Given the description of an element on the screen output the (x, y) to click on. 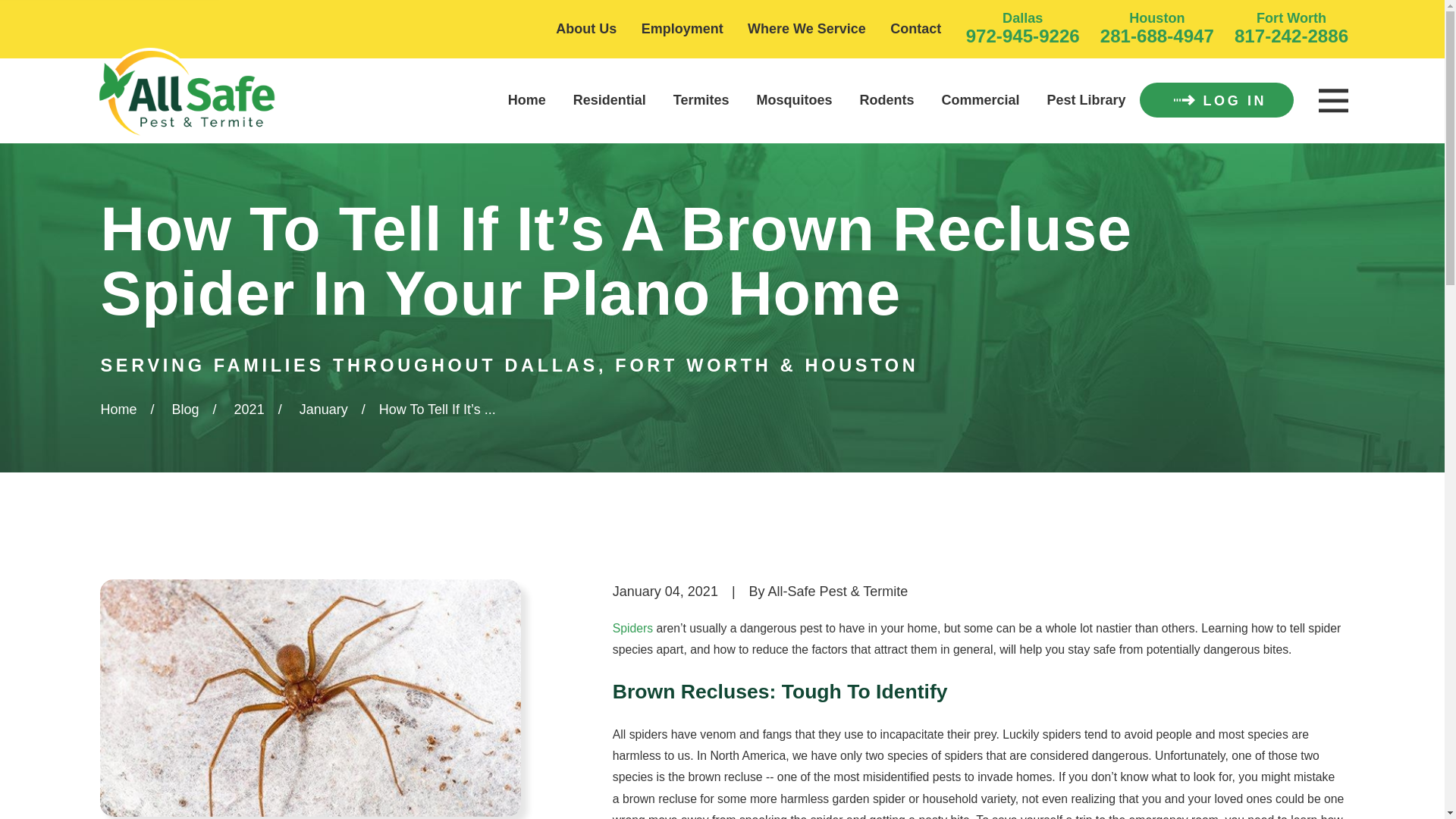
972-945-9226 (1023, 35)
Contact (914, 28)
Commercial (981, 99)
Mosquitoes (794, 99)
About Us (585, 28)
Main Menu (1332, 100)
281-688-4947 (1157, 35)
817-242-2886 (1291, 35)
Home (187, 93)
Go Home (118, 409)
